Given the description of an element on the screen output the (x, y) to click on. 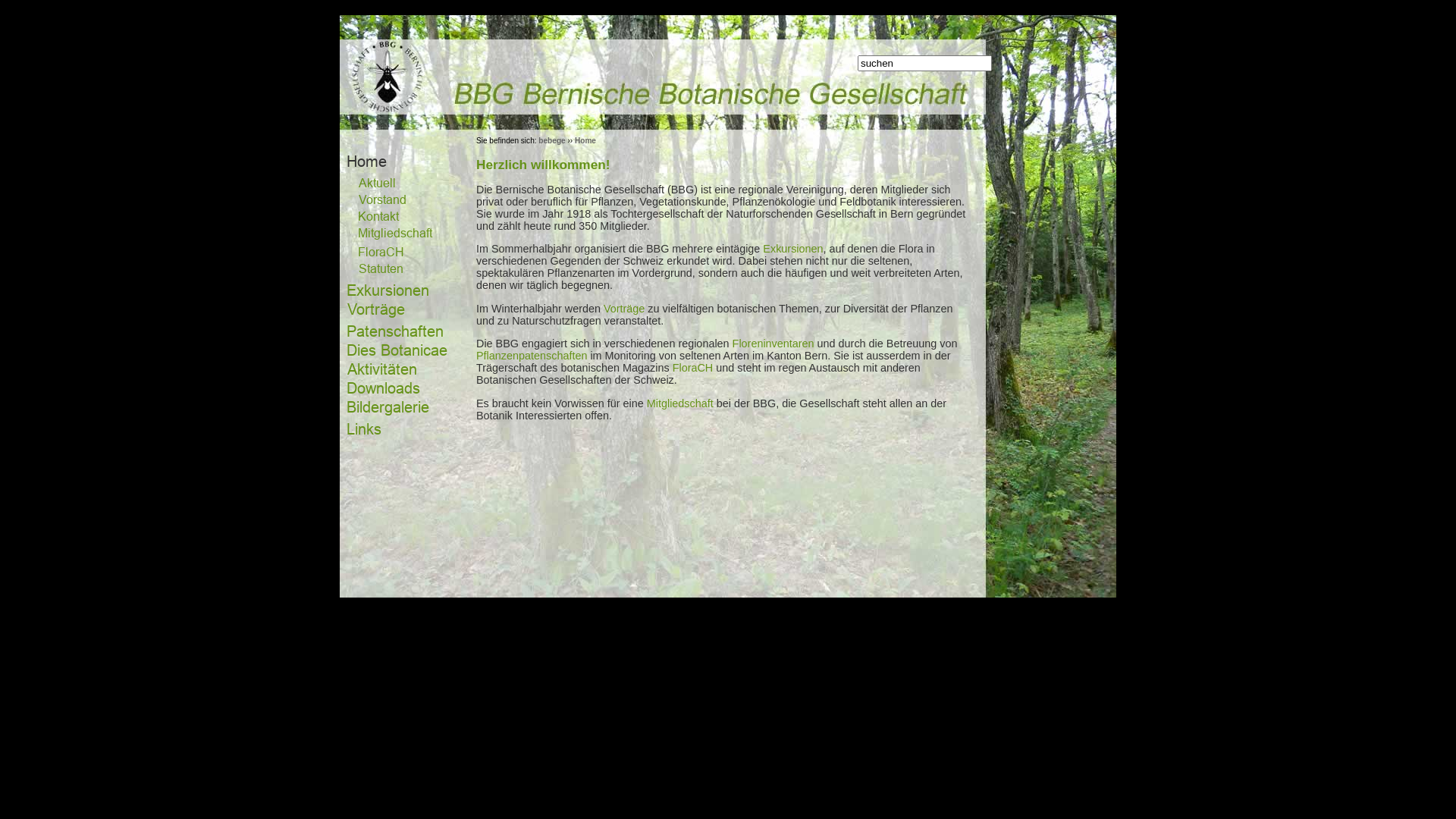
Links Element type: text (364, 428)
Pflanzenpatenschaften Element type: text (531, 355)
FloraCH Element type: text (380, 251)
bebege Element type: text (551, 140)
Mitgliedschaft Element type: text (679, 403)
Patenschaften Element type: text (394, 330)
Statuten Element type: text (380, 268)
Dies Botanicae Element type: text (397, 349)
Floreninventaren Element type: text (773, 343)
Exkursionen Element type: text (792, 248)
Bildergalerie Element type: text (388, 408)
Aktuell Element type: text (376, 182)
Downloads Element type: text (383, 387)
Exkursionen Element type: text (387, 289)
Mitgliedschaft Element type: text (395, 233)
FloraCH Element type: text (692, 367)
Home Element type: text (366, 160)
Vorstand Element type: text (381, 198)
Home Element type: text (585, 140)
Kontakt Element type: text (378, 215)
